Given the description of an element on the screen output the (x, y) to click on. 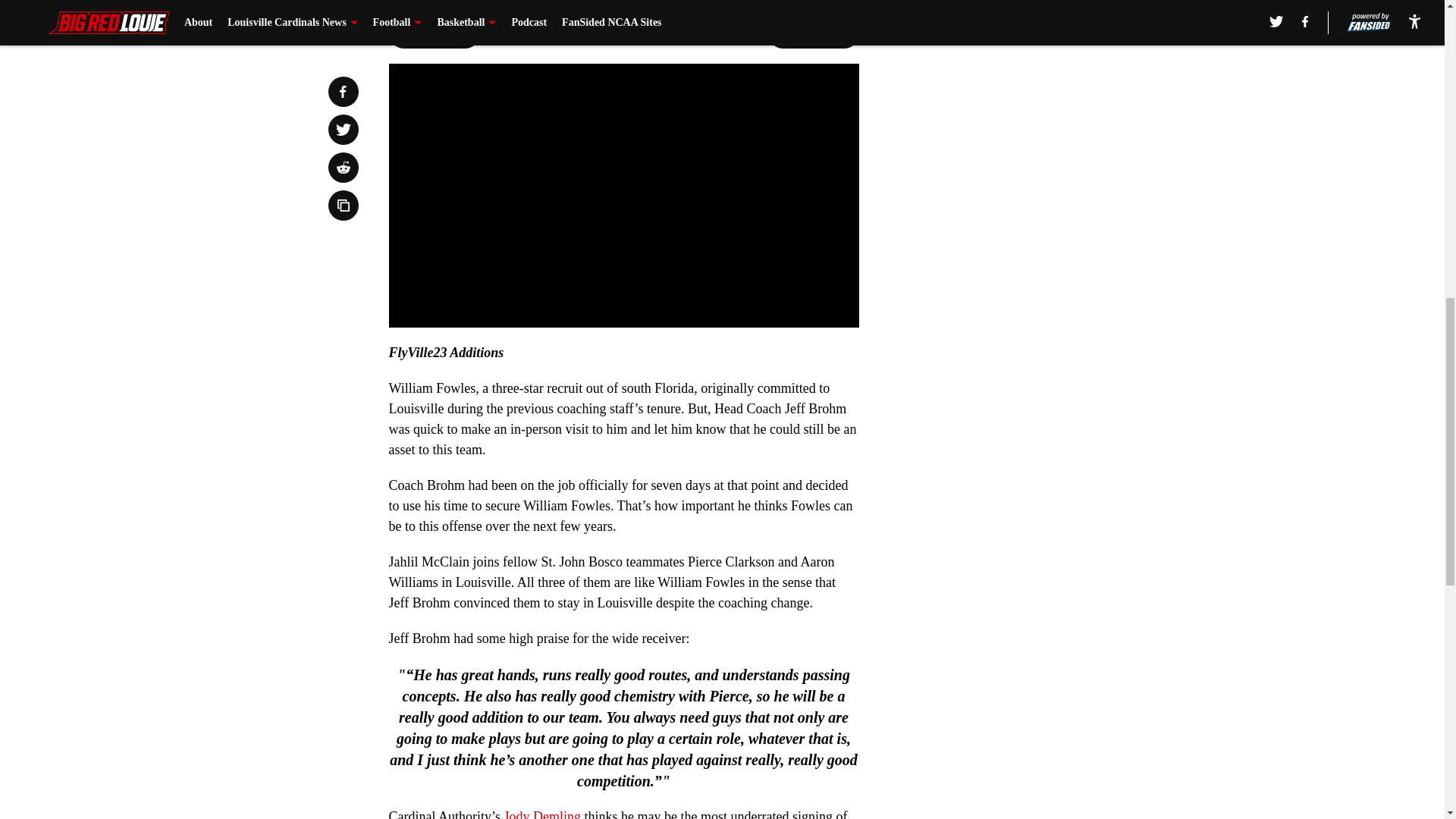
Next (813, 33)
Prev (433, 33)
Jody Demling (541, 814)
